Given the description of an element on the screen output the (x, y) to click on. 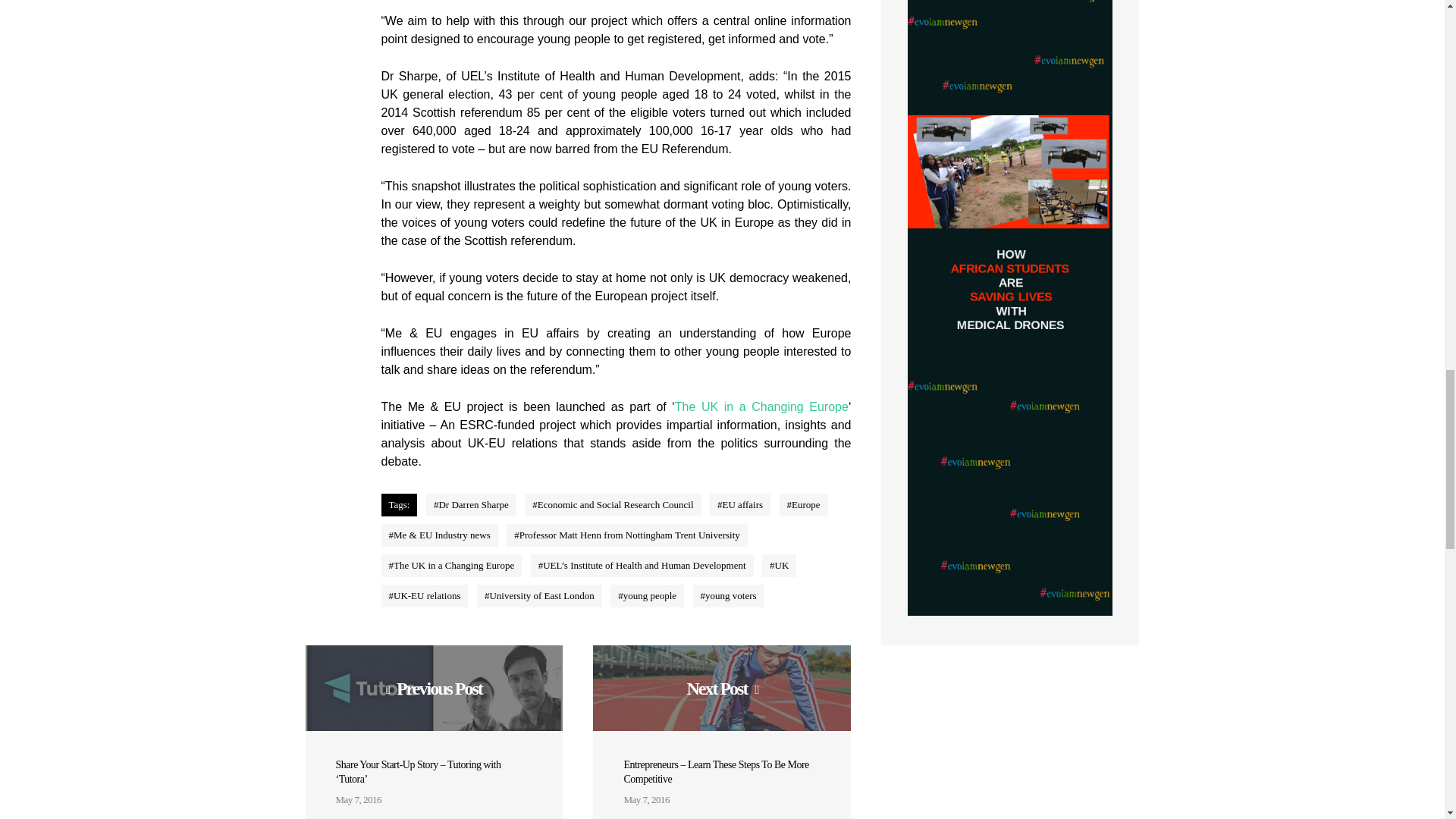
The UK in a Changing Europe (761, 406)
